Given the description of an element on the screen output the (x, y) to click on. 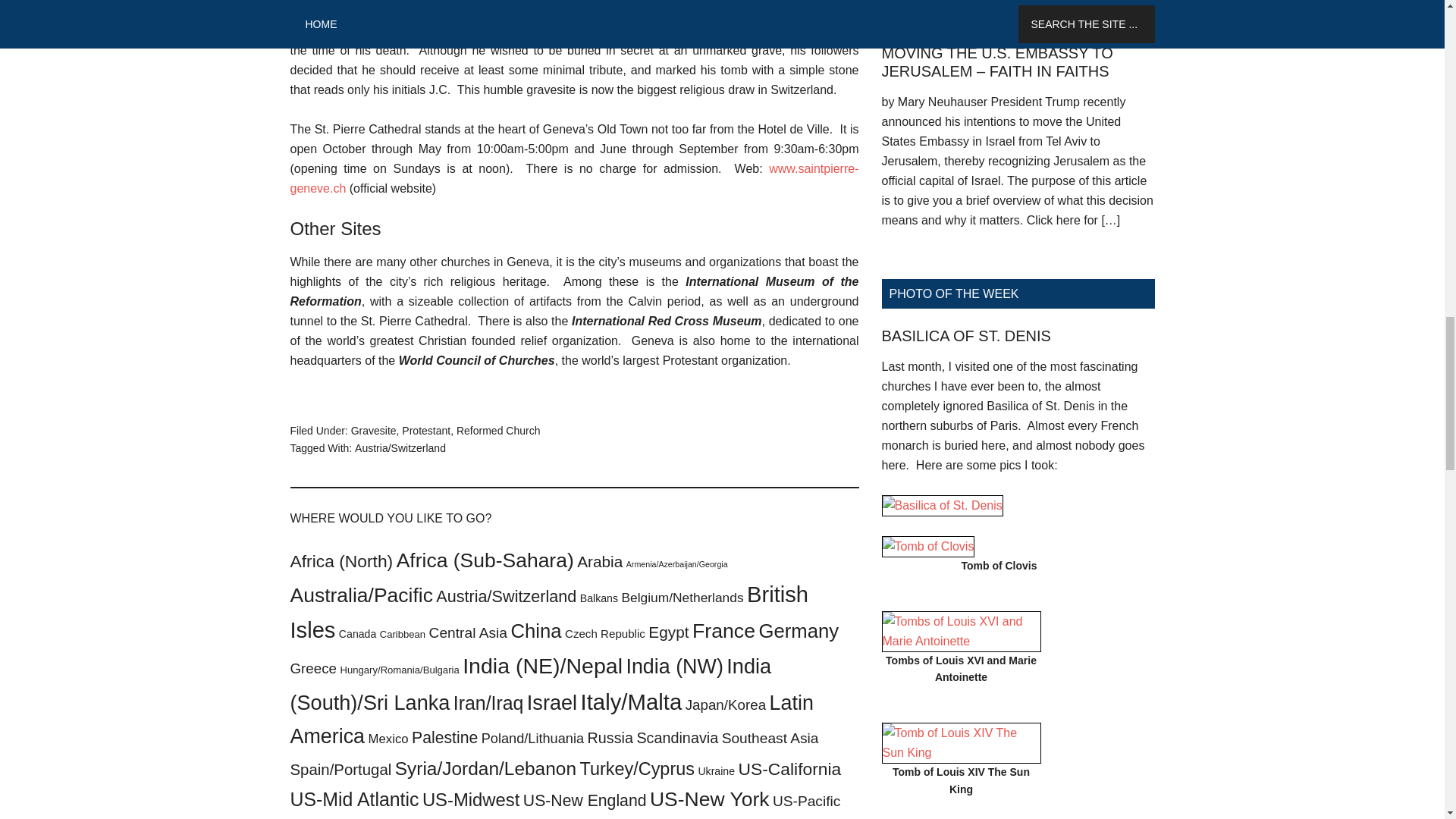
Arabia (599, 561)
www.saintpierre-geneve.ch (574, 178)
Gravesite (373, 430)
St. Pierre's Cathedral (574, 178)
Balkans (598, 598)
Reformed Church (498, 430)
Protestant (425, 430)
